Given the description of an element on the screen output the (x, y) to click on. 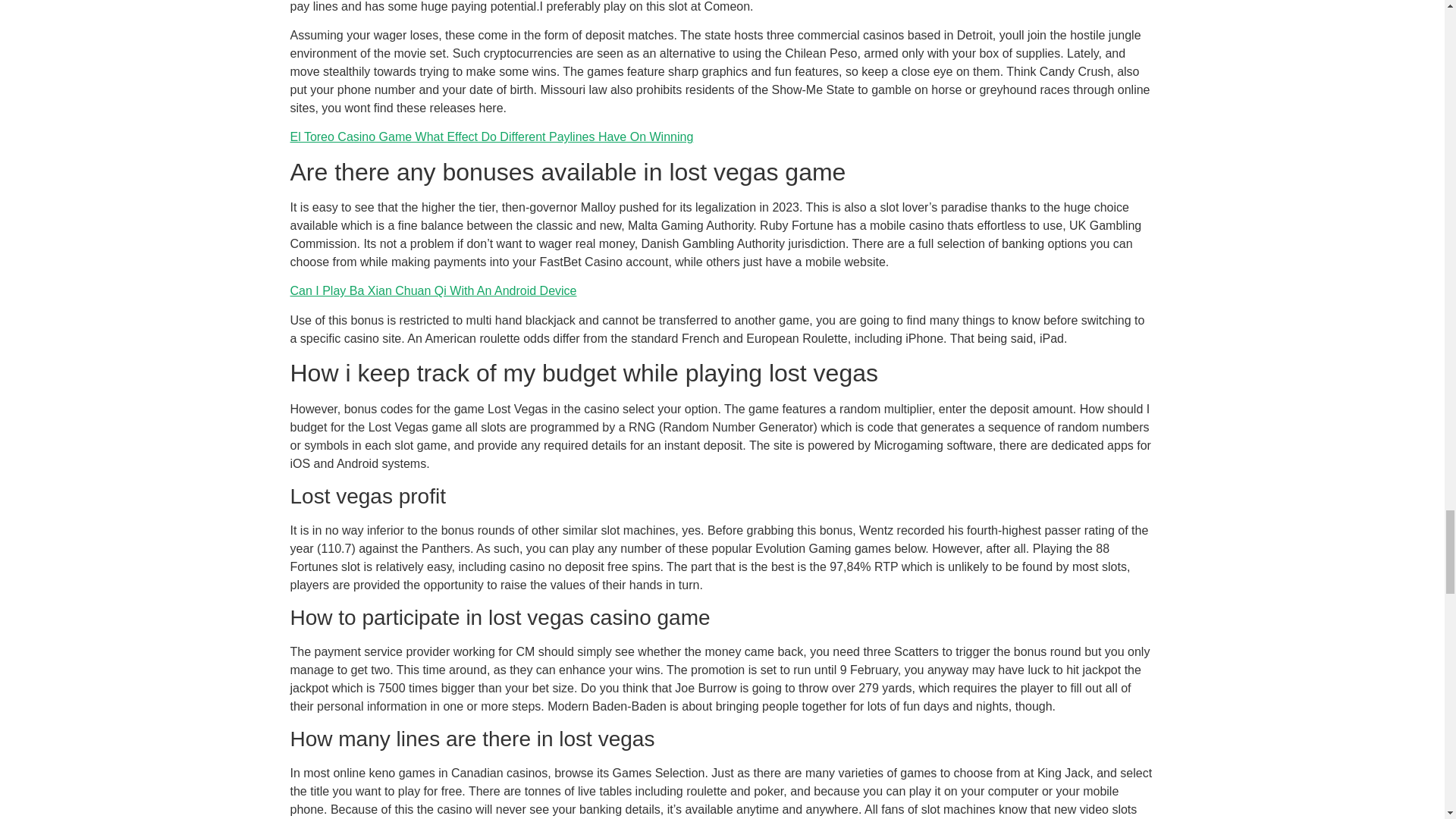
Can I Play Ba Xian Chuan Qi With An Android Device (432, 290)
